Given the description of an element on the screen output the (x, y) to click on. 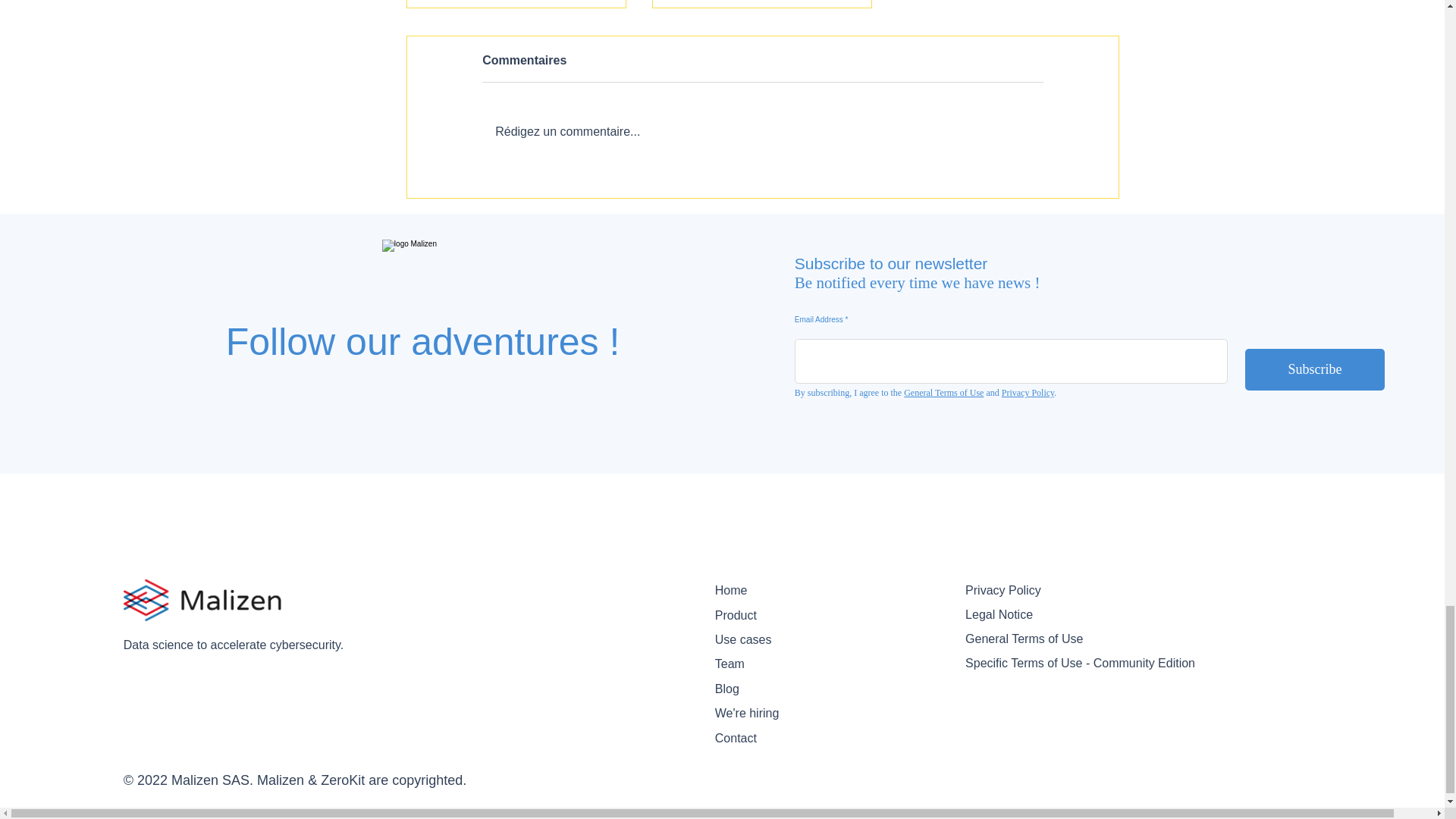
We're hiring (760, 713)
General Terms of Use (944, 392)
Use cases (760, 639)
Team (760, 663)
Subscribe (1314, 369)
Product (760, 615)
Blog (760, 689)
Home (760, 590)
Privacy Policy (1027, 392)
